Given the description of an element on the screen output the (x, y) to click on. 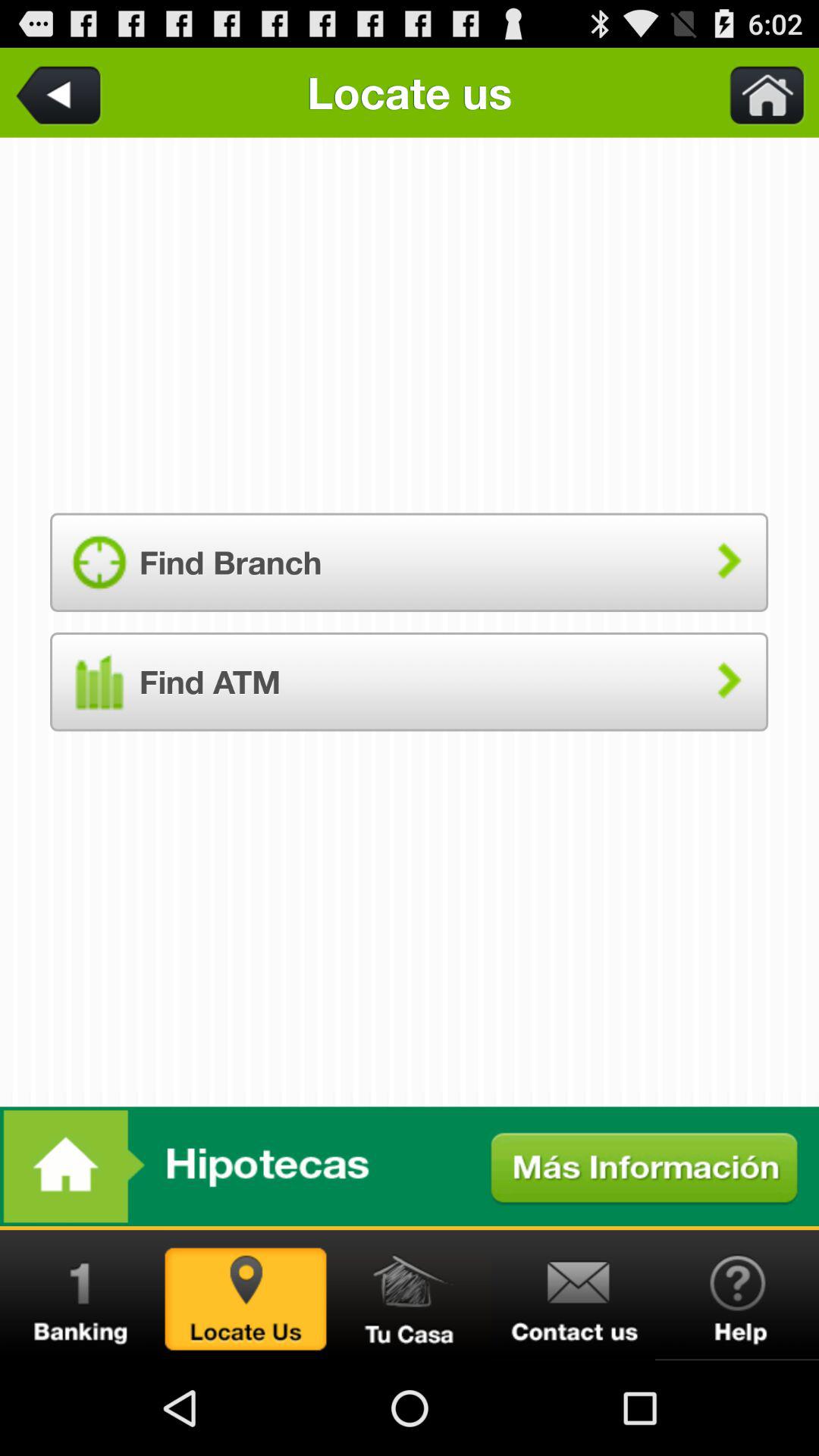
get more information (409, 1166)
